Given the description of an element on the screen output the (x, y) to click on. 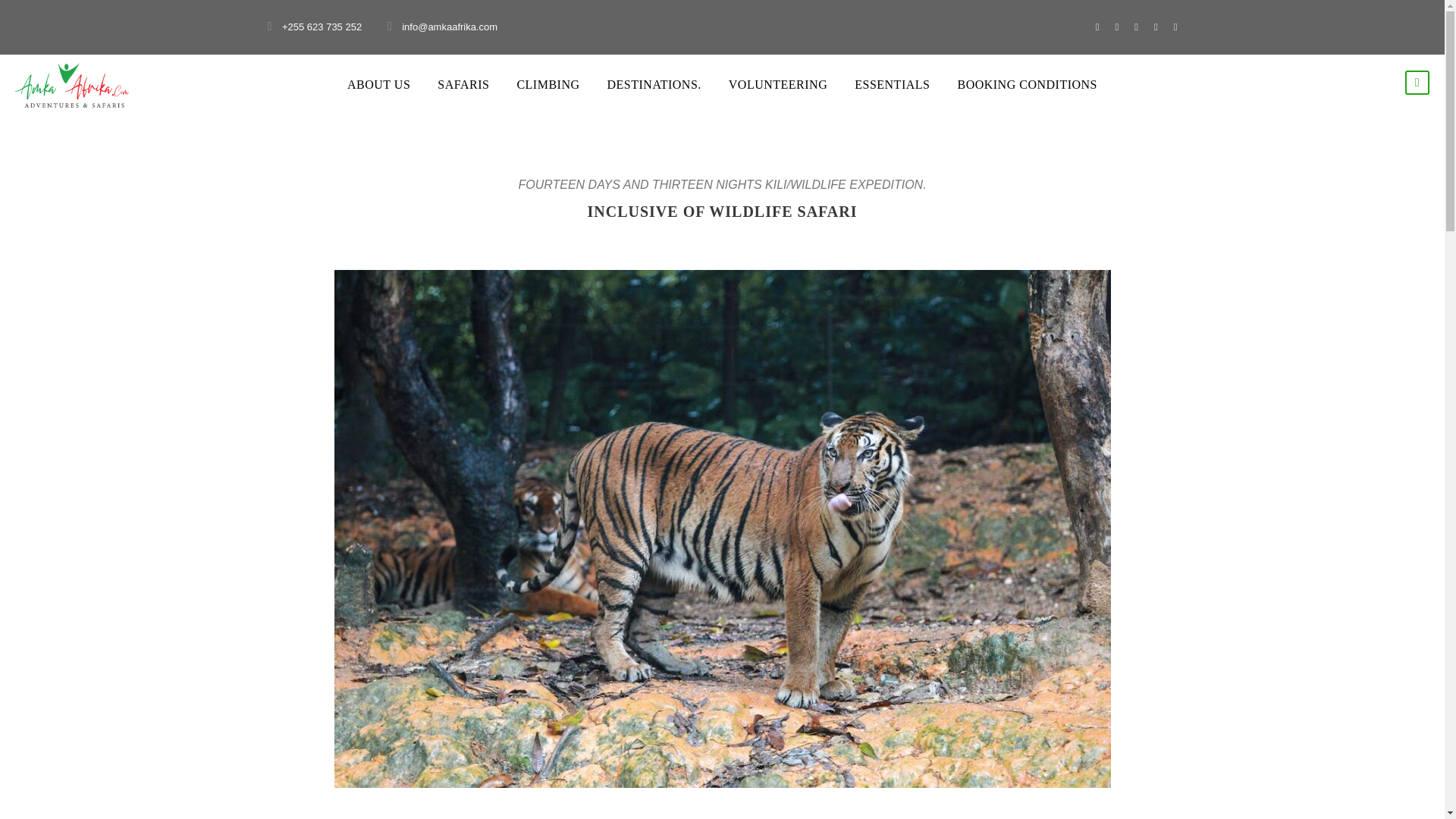
AMKA-AFRIKA-PNG (71, 85)
